Given the description of an element on the screen output the (x, y) to click on. 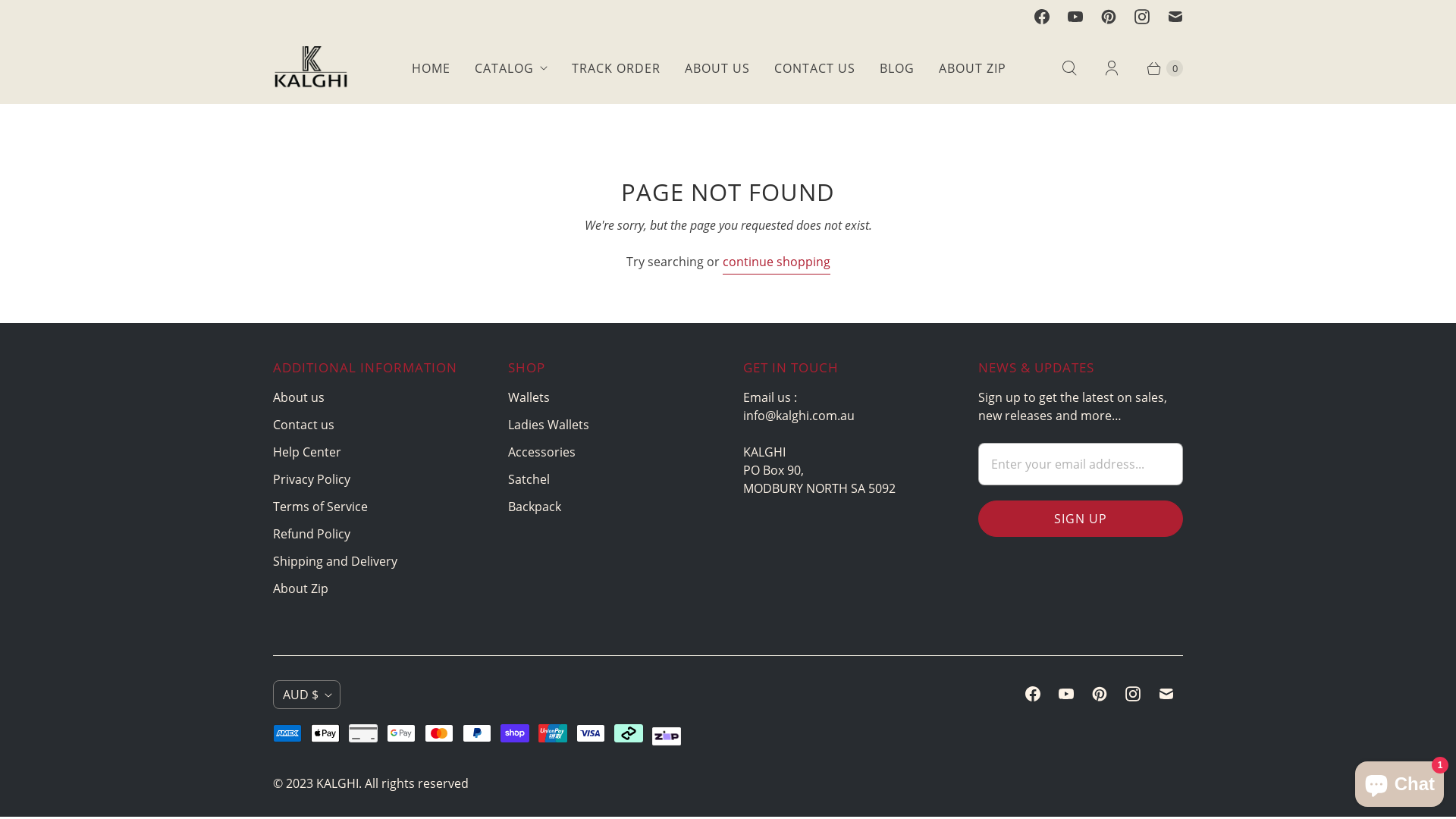
Terms of Service Element type: text (320, 506)
About Zip Element type: text (300, 588)
Shipping and Delivery Element type: text (335, 560)
About us Element type: text (298, 397)
CONTACT US Element type: text (814, 68)
AUD $ Element type: text (306, 694)
CATALOG Element type: text (510, 68)
BLOG Element type: text (896, 68)
Sign Up Element type: text (1080, 518)
Backpack Element type: text (534, 506)
Contact us Element type: text (303, 424)
ABOUT US Element type: text (717, 68)
Accessories Element type: text (541, 451)
0 Element type: text (1157, 68)
Refund Policy Element type: text (311, 533)
ABOUT ZIP Element type: text (972, 68)
Wallets Element type: text (528, 397)
TRACK ORDER Element type: text (615, 68)
KALGHI Element type: text (337, 783)
Help Center Element type: text (307, 451)
Shopify online store chat Element type: hover (1399, 780)
Privacy Policy Element type: text (311, 478)
Ladies Wallets Element type: text (548, 424)
HOME Element type: text (430, 68)
continue shopping Element type: text (775, 263)
Satchel Element type: text (528, 478)
